Given the description of an element on the screen output the (x, y) to click on. 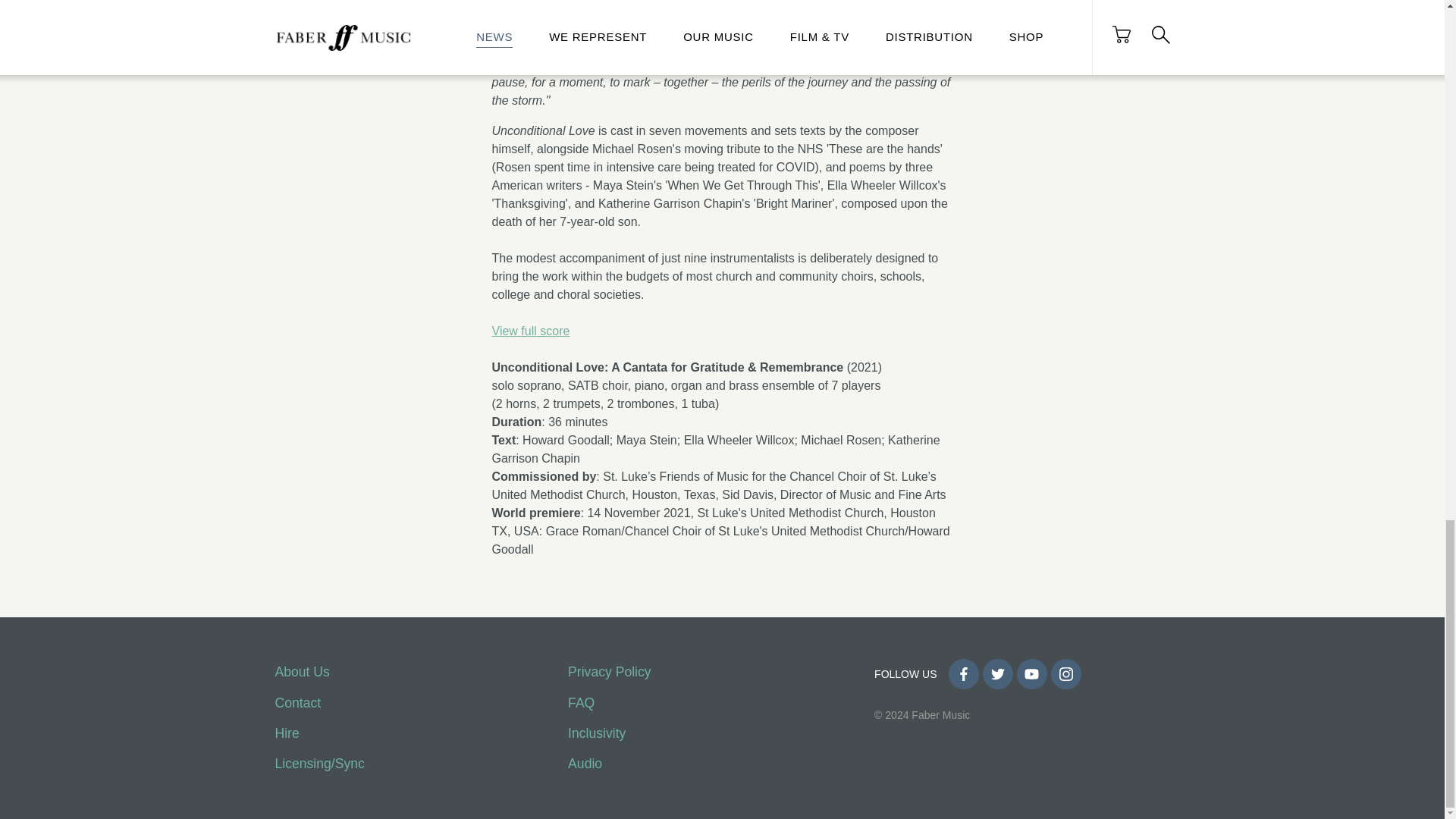
Hire (286, 733)
Contact (297, 702)
Privacy Policy (608, 671)
FACEBOOK (963, 674)
Audio (584, 763)
View full score (530, 330)
Inclusivity (596, 733)
About Us (302, 671)
FAQ (580, 702)
